Given the description of an element on the screen output the (x, y) to click on. 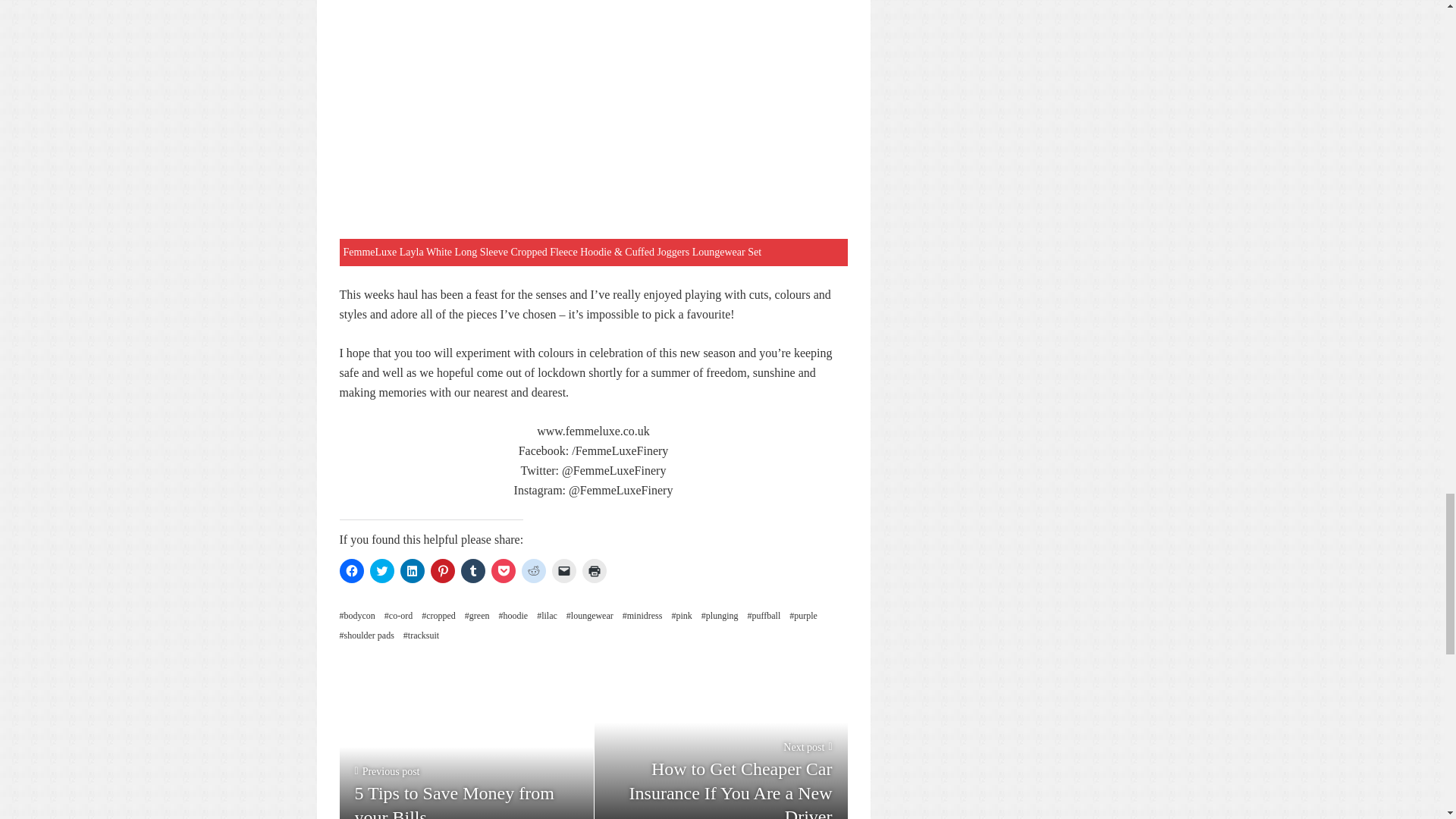
www.femmeluxe.co.uk (593, 431)
Click to share on Facebook (351, 570)
Click to share on LinkedIn (412, 570)
bodycon (357, 615)
Click to share on Pinterest (442, 570)
cropped (438, 615)
Click to print (594, 570)
Click to email a link to a friend (563, 570)
Click to share on Tumblr (472, 570)
Click to share on Reddit (533, 570)
co-ord (398, 615)
Click to share on Pocket (503, 570)
Click to share on Twitter (381, 570)
